Given the description of an element on the screen output the (x, y) to click on. 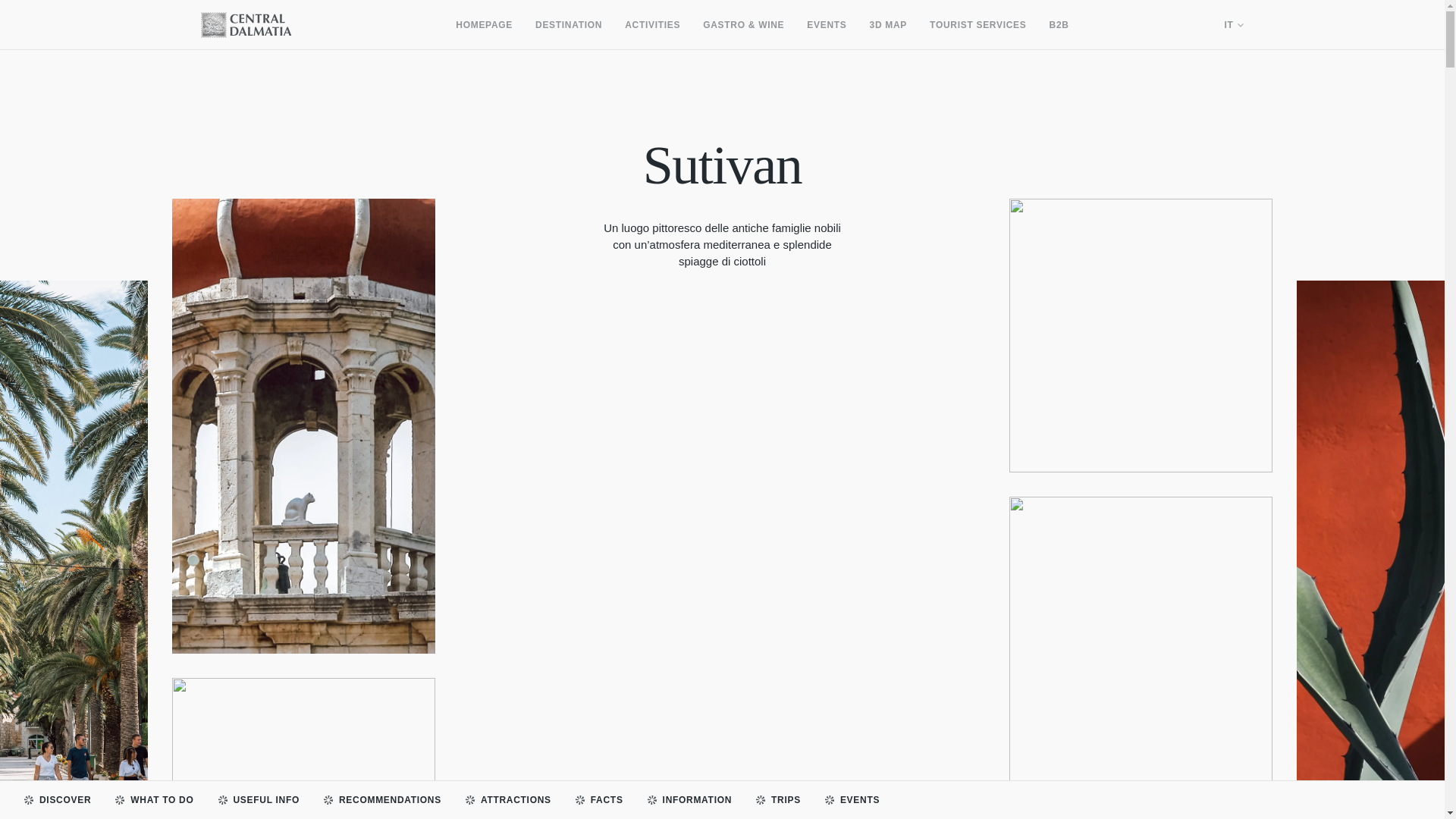
DESTINATION (568, 24)
HOMEPAGE (483, 24)
The official site of the Tourist Board Split-Dalmatia County (245, 24)
